Given the description of an element on the screen output the (x, y) to click on. 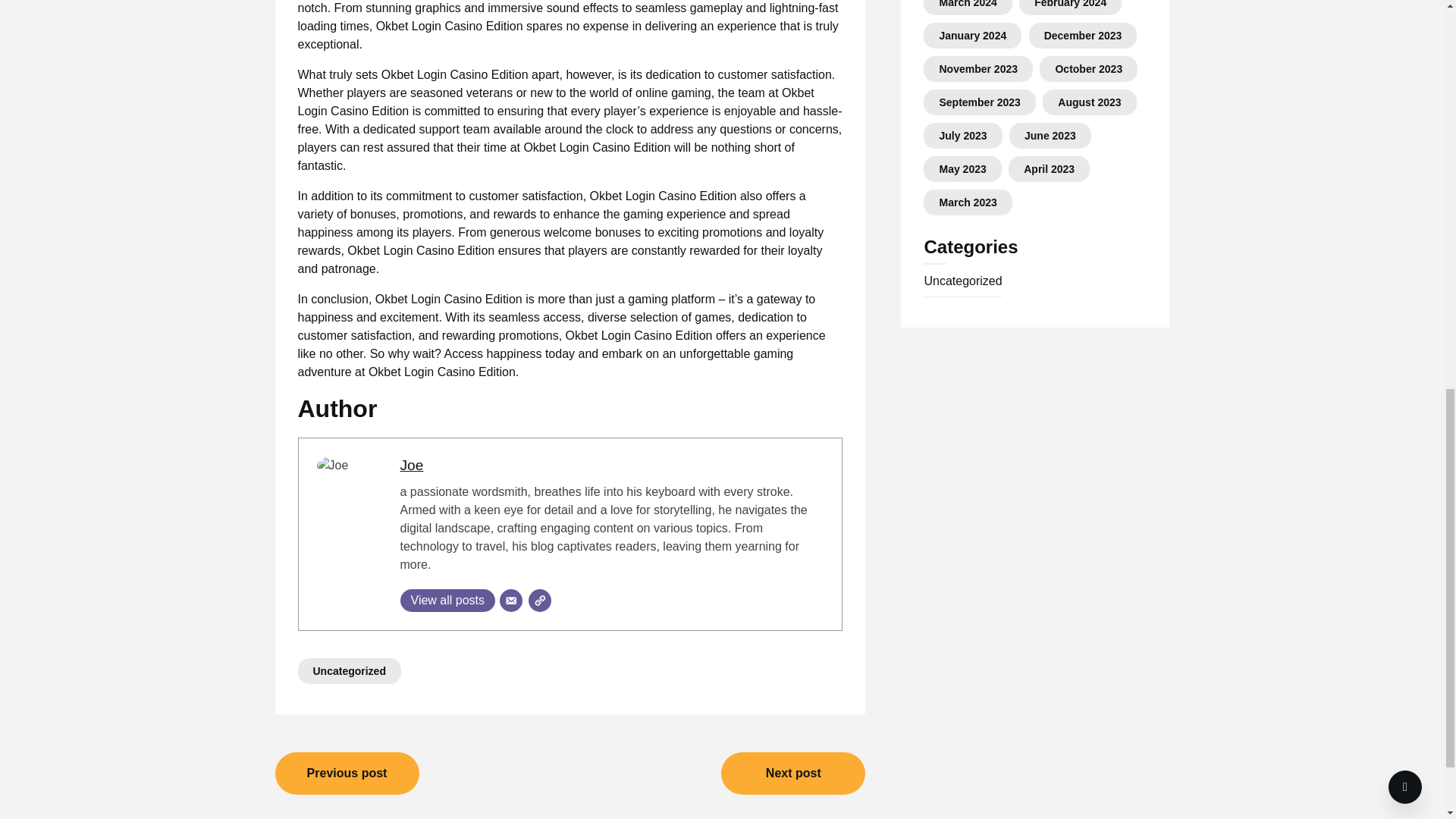
November 2023 (978, 69)
February 2024 (1069, 4)
Joe (411, 465)
Next post (792, 773)
Previous post (347, 773)
March 2024 (967, 4)
Uncategorized (348, 670)
View all posts (448, 599)
January 2024 (972, 35)
Joe (411, 465)
